Given the description of an element on the screen output the (x, y) to click on. 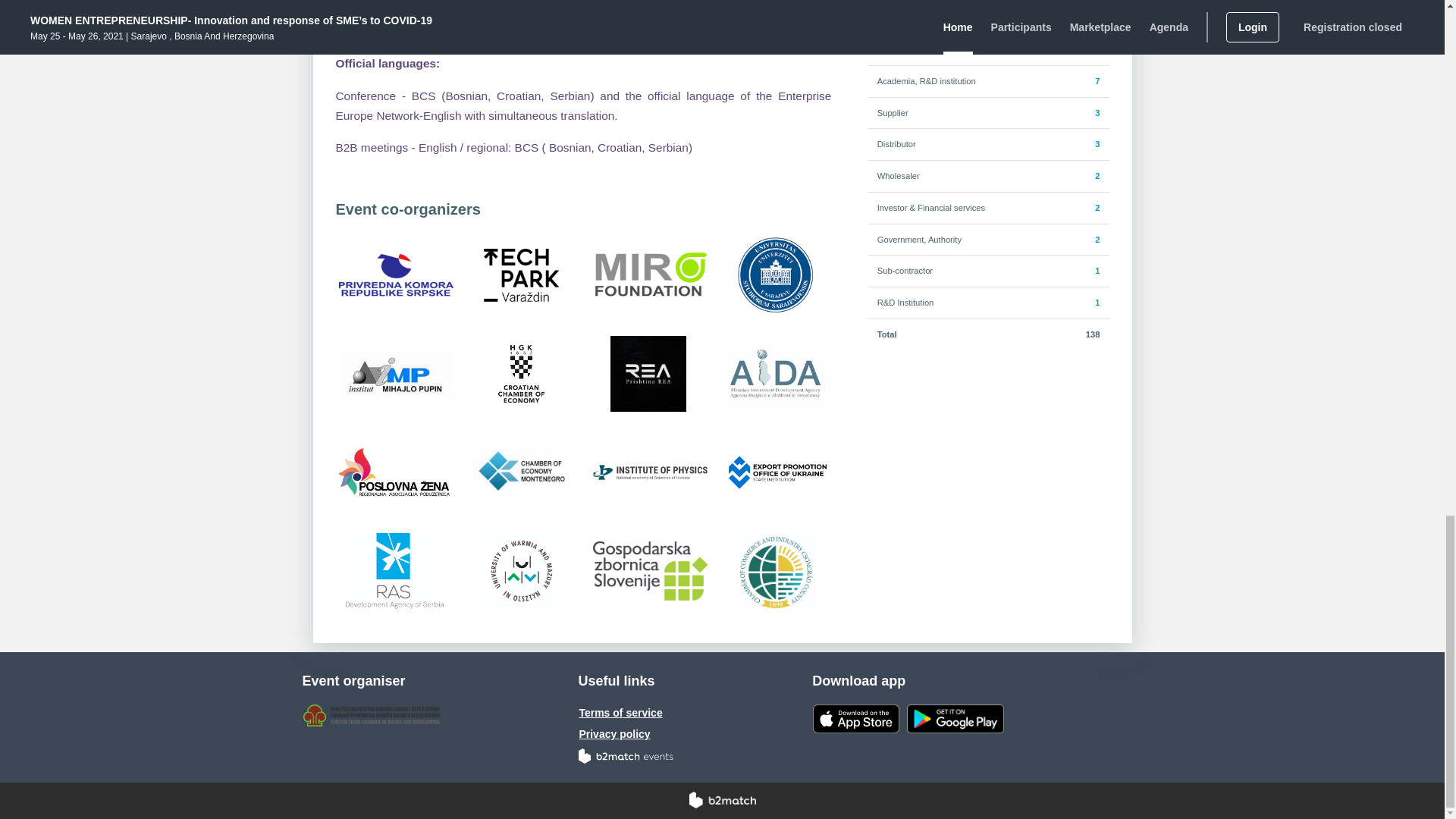
Networking events - b2match (626, 755)
14 (1094, 17)
11 (1094, 49)
Event networking platform - b2match (721, 800)
